Given the description of an element on the screen output the (x, y) to click on. 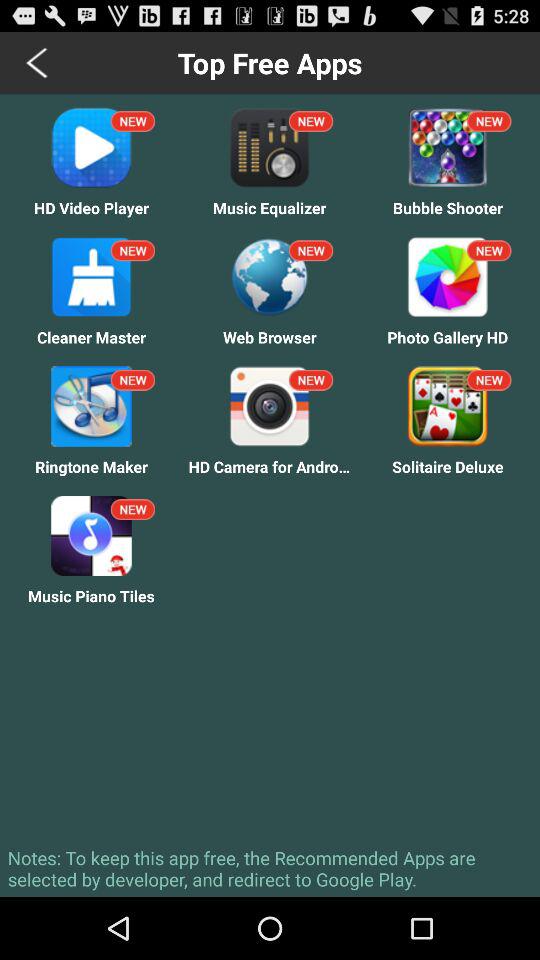
go back (37, 62)
